Given the description of an element on the screen output the (x, y) to click on. 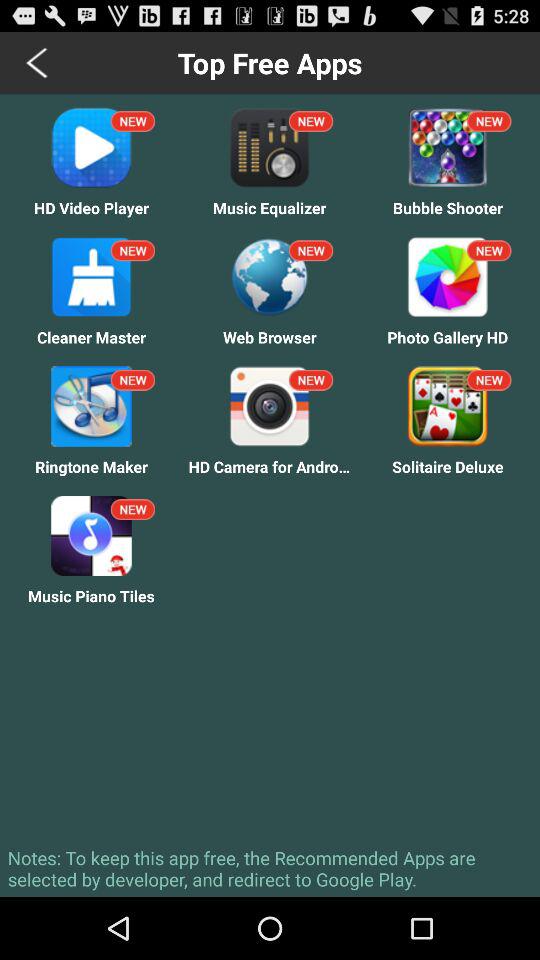
go back (37, 62)
